Given the description of an element on the screen output the (x, y) to click on. 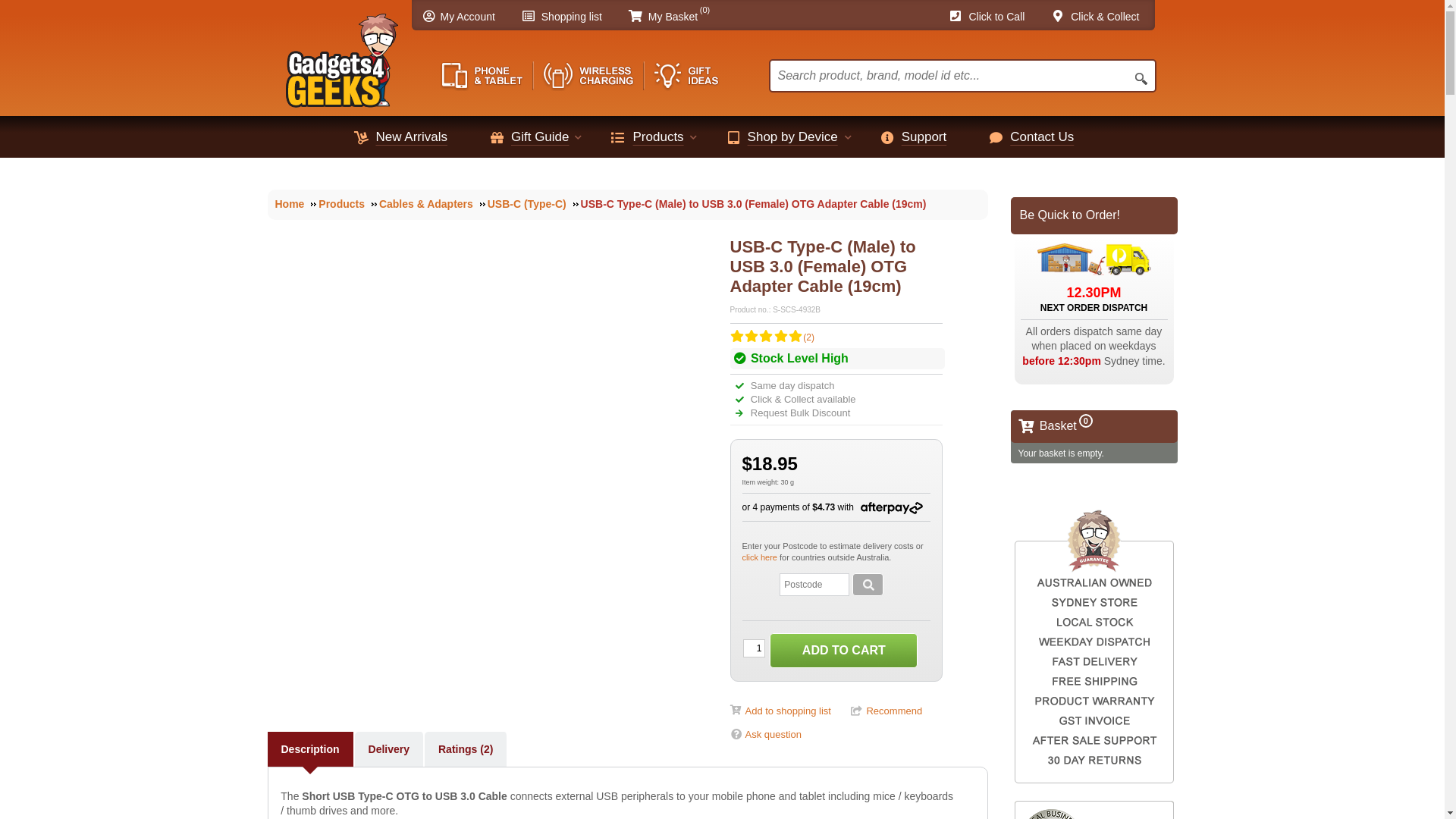
Ratings (2) Element type: text (465, 748)
click here Element type: text (760, 556)
Average rating: 5 of 5 Element type: hover (765, 338)
My Account Element type: text (465, 17)
Delivery Element type: text (388, 748)
Click & Collect Element type: text (1102, 17)
Add to basket Element type: text (843, 650)
Add to shopping list Element type: text (779, 710)
Click to Call Element type: text (993, 17)
Cables & Adapters Element type: text (432, 203)
Express Post Shipping - Gadgets 4 Geeks Element type: hover (1094, 259)
(2) Element type: text (771, 337)
Average rating: 5 of 5 Element type: hover (735, 338)
My Basket Element type: text (670, 17)
Gadgets 4 Geeks logo Element type: hover (341, 56)
Average rating: 5 of 5 Element type: hover (780, 338)
Products Element type: text (662, 136)
Recommend Element type: text (878, 711)
Average rating: 5 of 5 Element type: hover (750, 338)
New Arrivals Element type: text (415, 136)
Products Element type: text (347, 203)
Click & Collect available Element type: text (801, 398)
Ask question Element type: text (765, 734)
Start search Element type: hover (1140, 79)
Average rating: 5 of 5 Element type: hover (794, 338)
Home Element type: text (295, 203)
Description Element type: text (309, 748)
Shop by Device Element type: text (796, 136)
Shopping list Element type: text (569, 17)
Gift Guide Element type: text (544, 136)
Request Bulk Discount Element type: text (798, 412)
USB-C (Type-C) Element type: text (532, 203)
Support Element type: text (927, 136)
Contact Us Element type: text (1045, 136)
Calculate product delivery costs Element type: hover (867, 584)
Gadgets 4 Geeks Guarantee Element type: hover (1093, 646)
Same day dispatch Element type: text (790, 385)
